Given the description of an element on the screen output the (x, y) to click on. 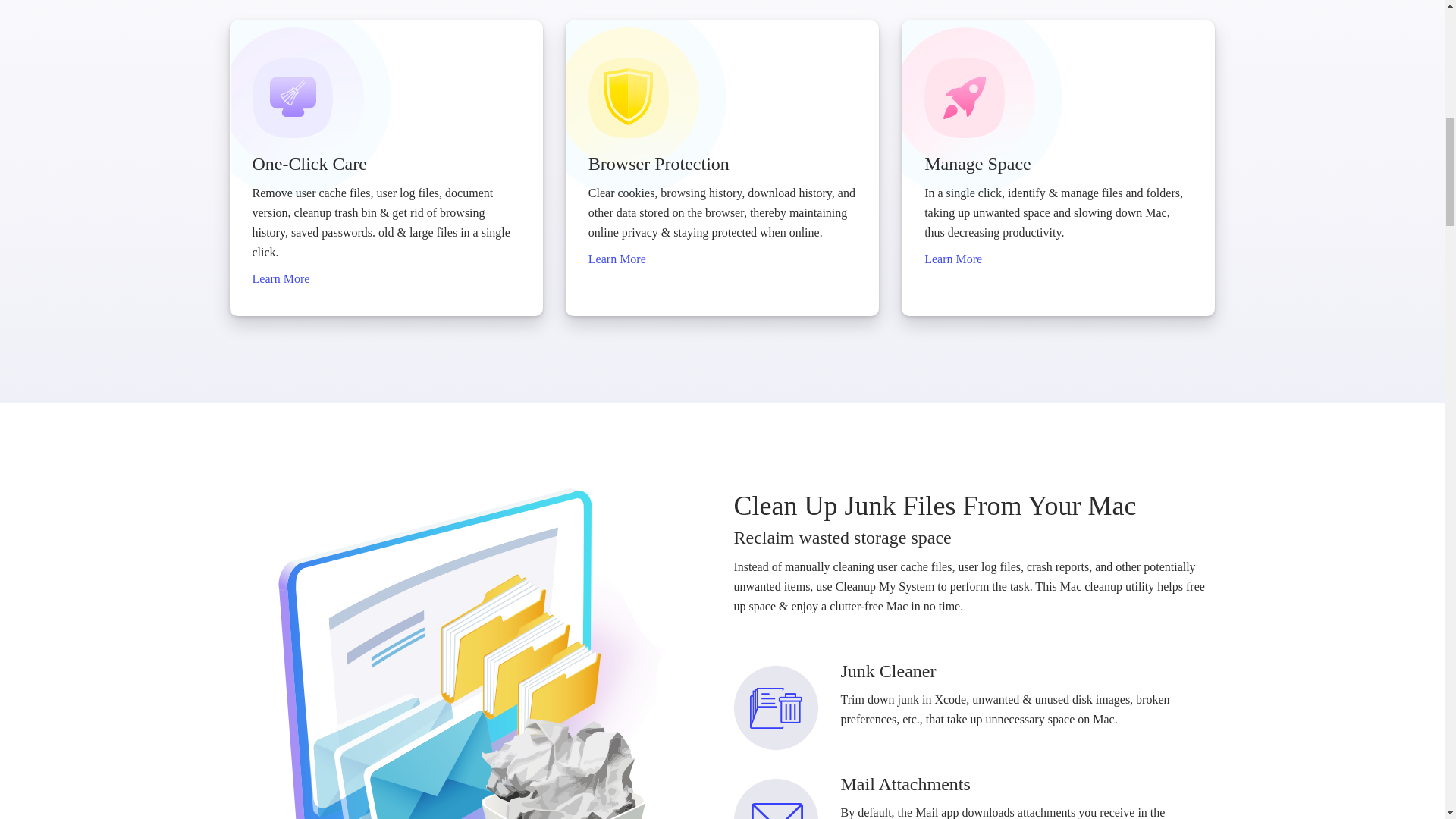
Learn More (952, 258)
Learn More (617, 258)
Learn More (279, 278)
